Given the description of an element on the screen output the (x, y) to click on. 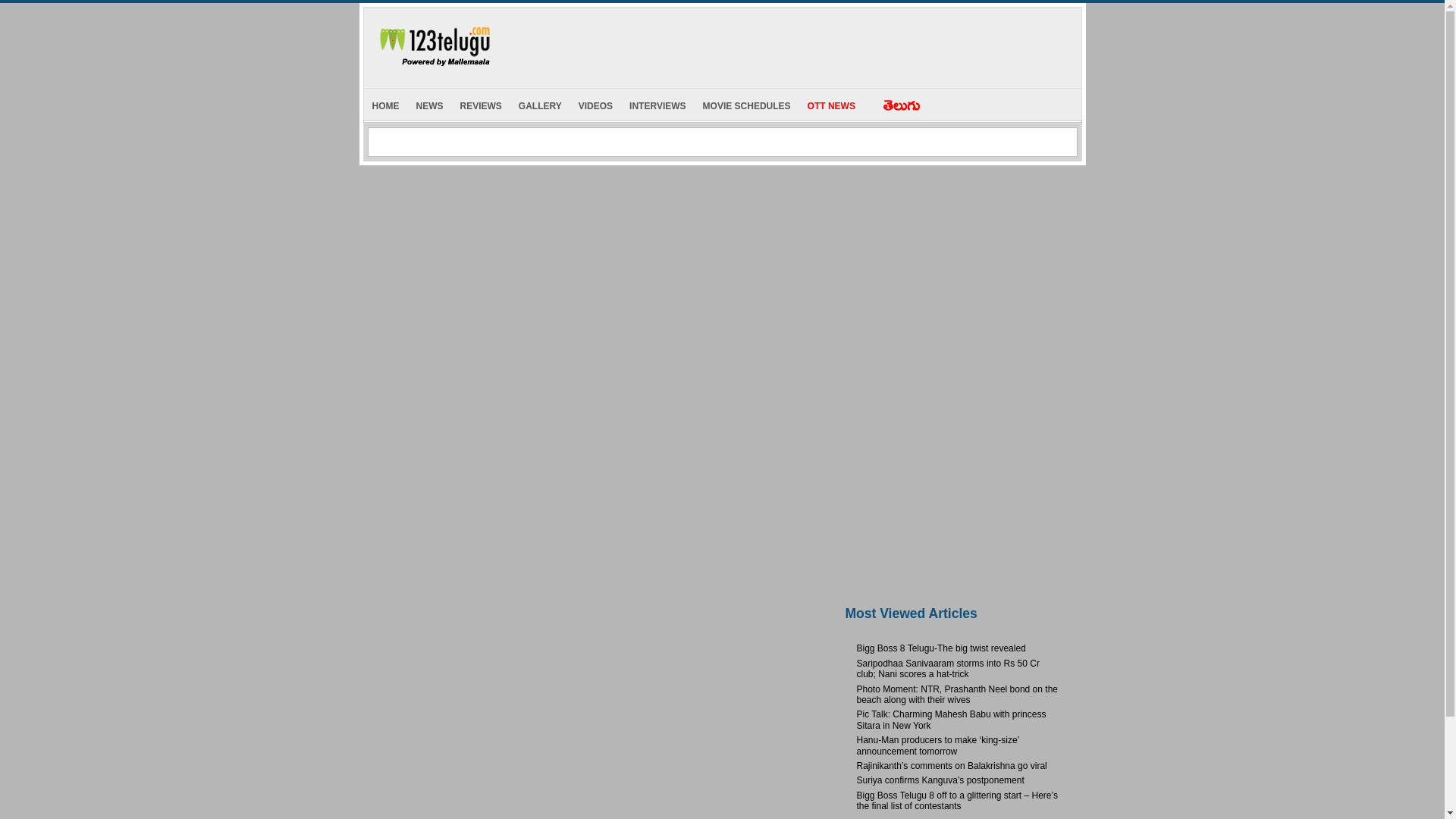
NEWS (429, 103)
INTERVIEWS (657, 103)
Bigg Boss 8 Telugu-The big twist revealed (941, 647)
REVIEWS (481, 103)
VIDEOS (595, 103)
HOME (385, 103)
GALLERY (540, 103)
MOVIE SCHEDULES (746, 103)
